Given the description of an element on the screen output the (x, y) to click on. 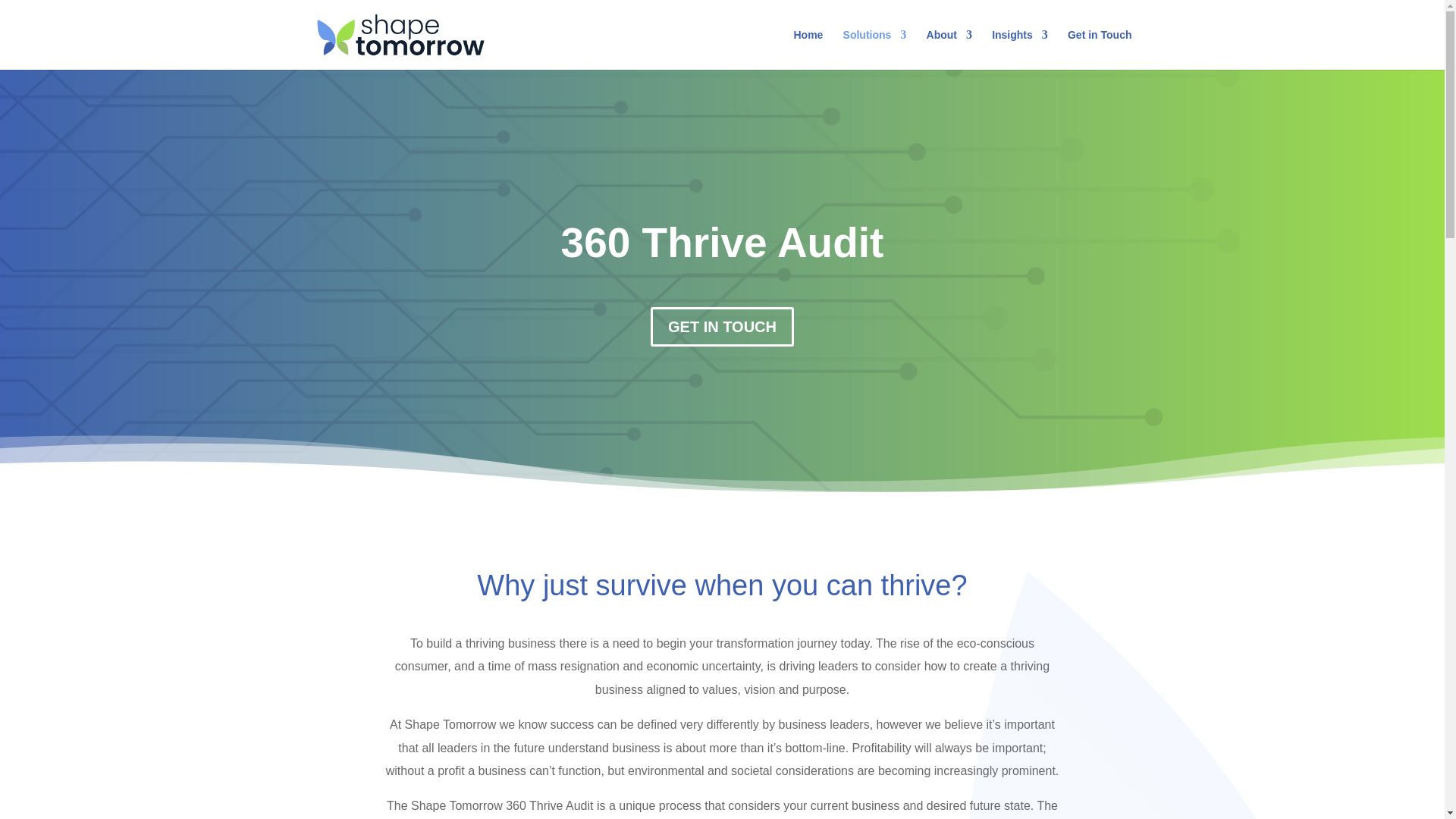
Get in Touch (1099, 49)
GET IN TOUCH (721, 326)
About (949, 49)
Insights (1019, 49)
Solutions (875, 49)
